Given the description of an element on the screen output the (x, y) to click on. 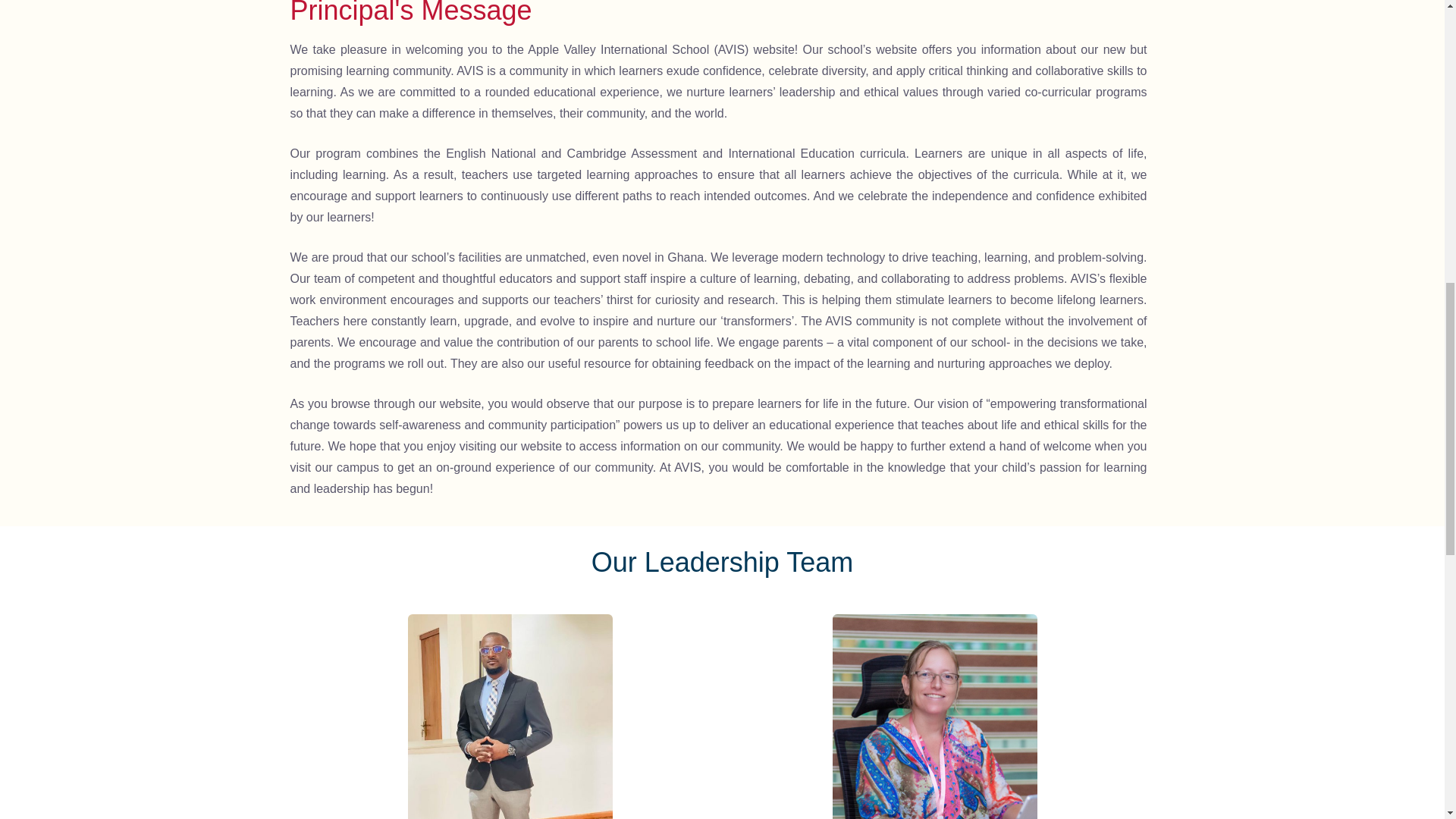
WhatsApp Image 2023-02-09 at 14.54.21 (509, 716)
